Given the description of an element on the screen output the (x, y) to click on. 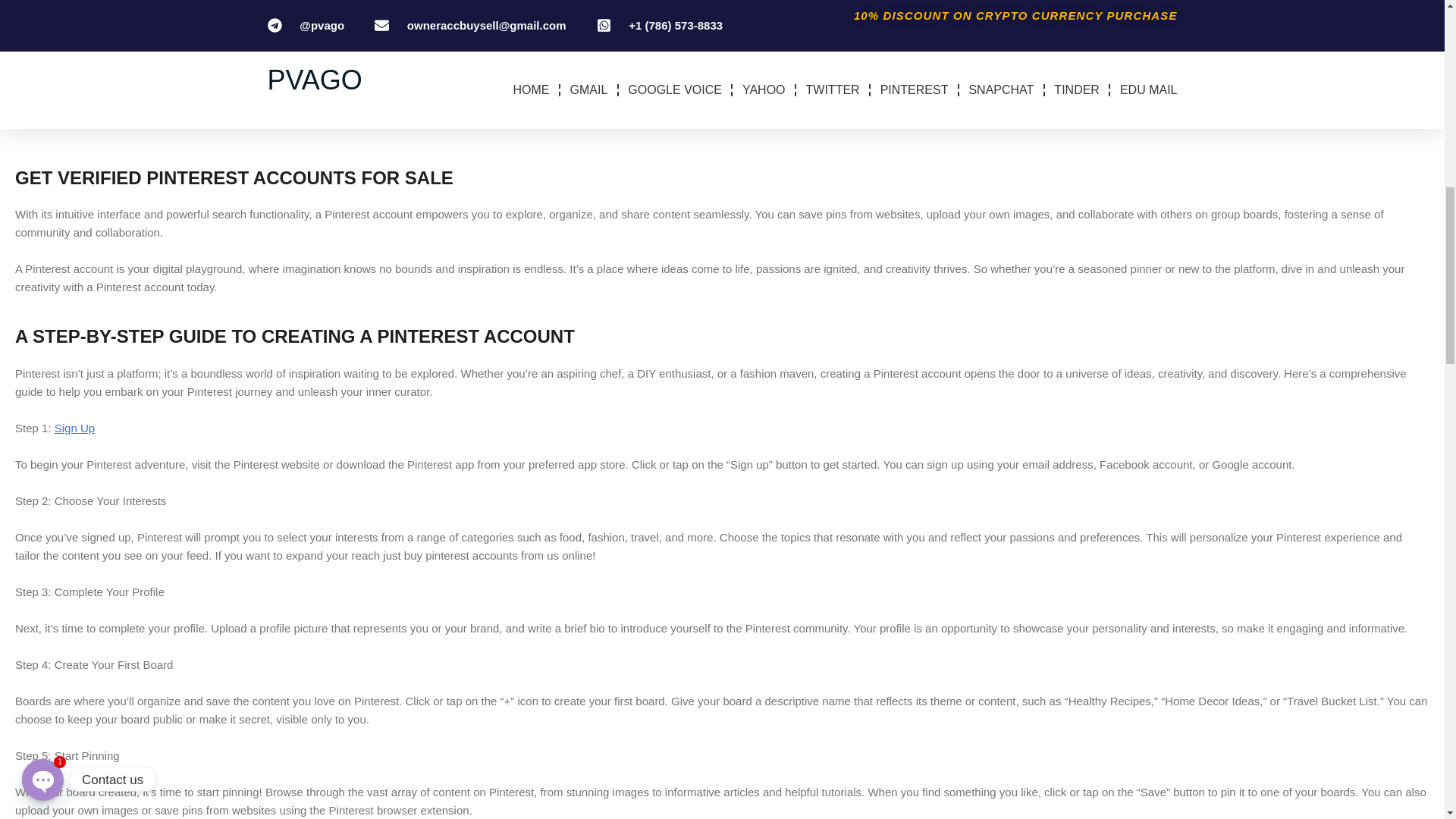
buy old pinterest accounts (368, 31)
